Given the description of an element on the screen output the (x, y) to click on. 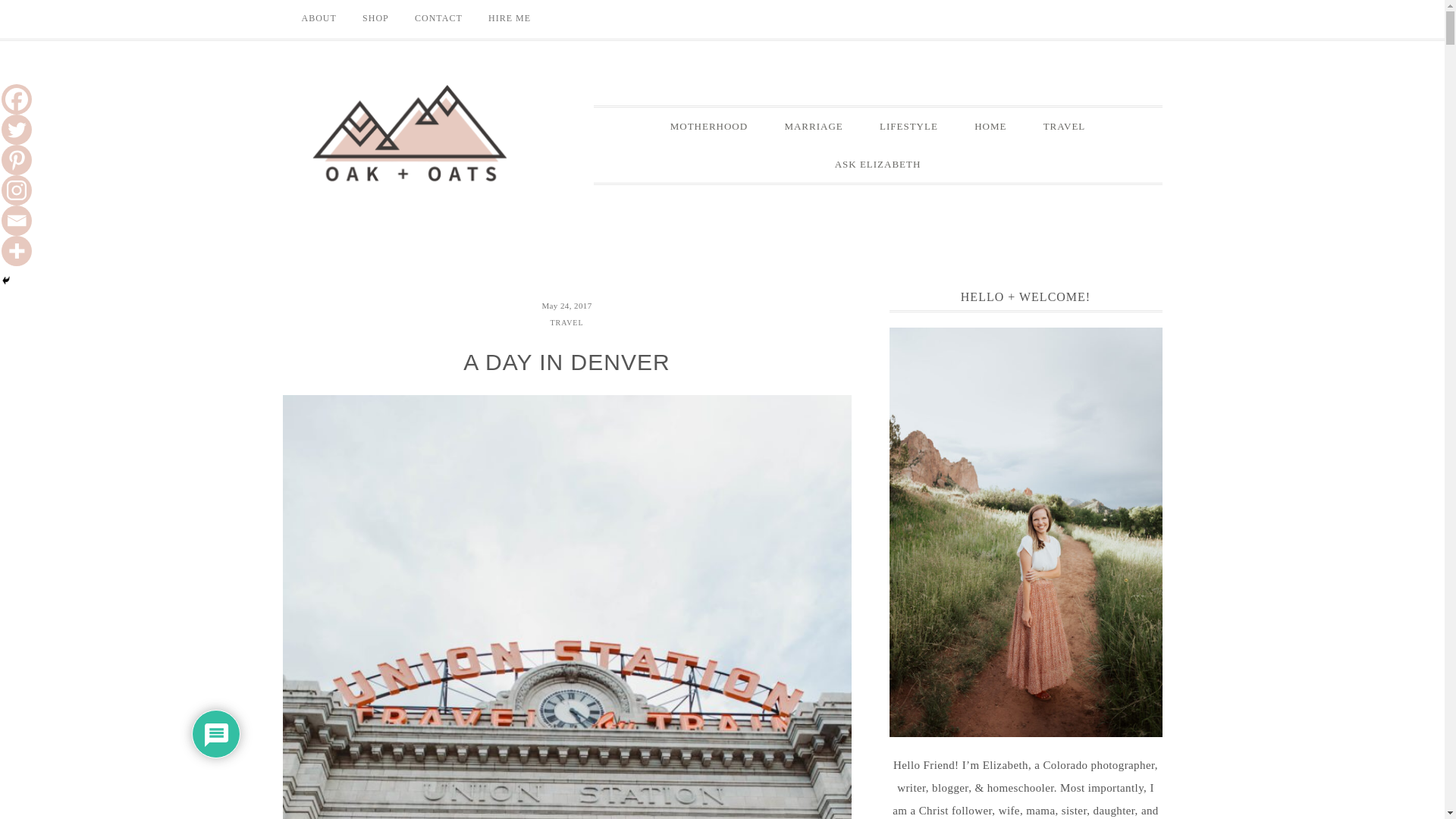
TRAVEL (566, 322)
TRAVEL (1064, 126)
SHOP (375, 18)
HIRE ME (509, 18)
HOME (990, 126)
MOTHERHOOD (708, 126)
LIFESTYLE (909, 126)
ASK ELIZABETH (877, 164)
ABOUT (318, 18)
MARRIAGE (813, 126)
